Given the description of an element on the screen output the (x, y) to click on. 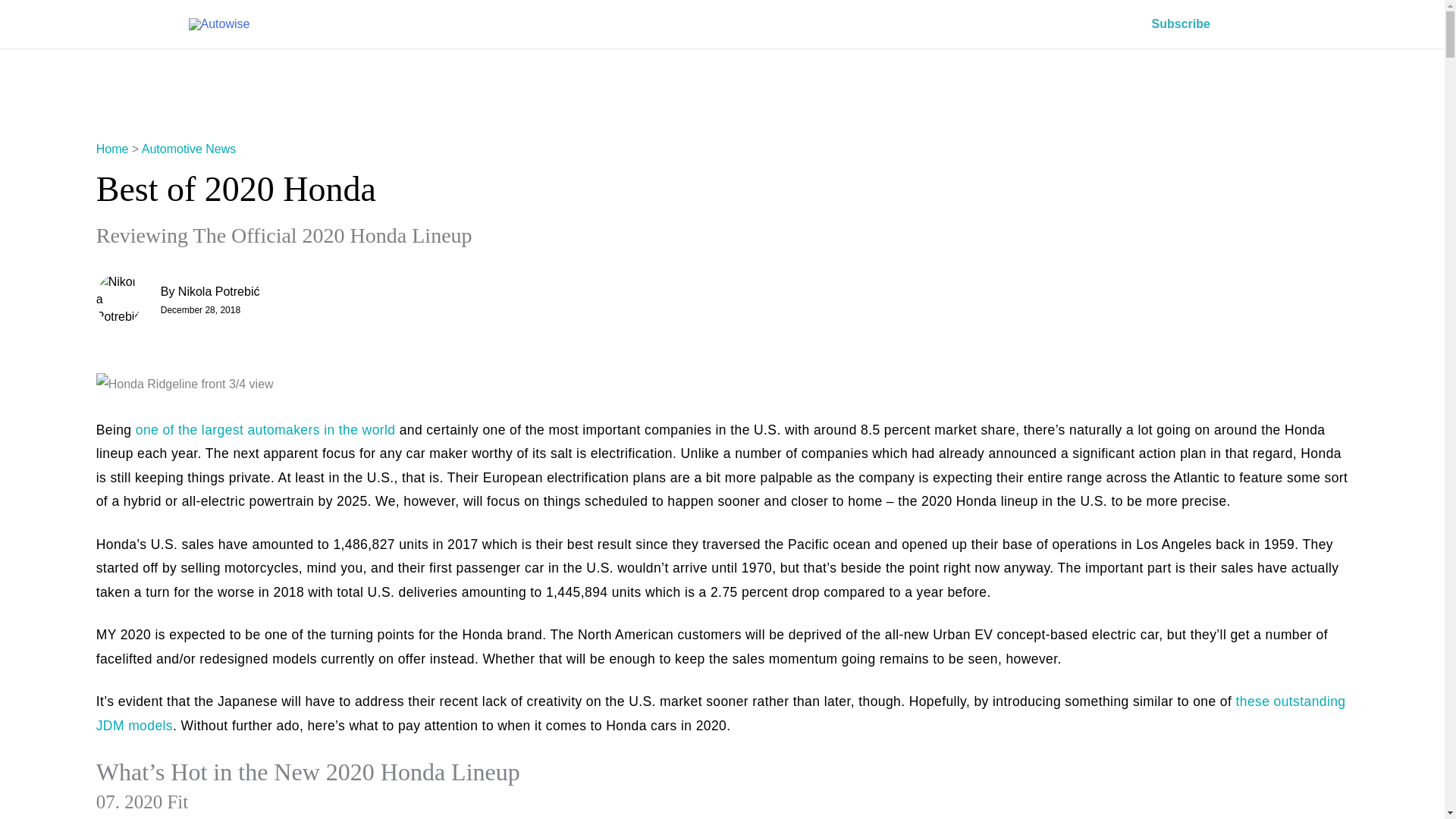
Powersports (915, 24)
Subscribe (1181, 24)
Go to Autowise. (112, 148)
Search (18, 17)
these outstanding JDM models (720, 713)
More (1101, 24)
Go to the Automotive News category archives. (188, 148)
one of the largest automakers in the world (265, 429)
Buying Guides (1017, 24)
Autos (831, 24)
